Given the description of an element on the screen output the (x, y) to click on. 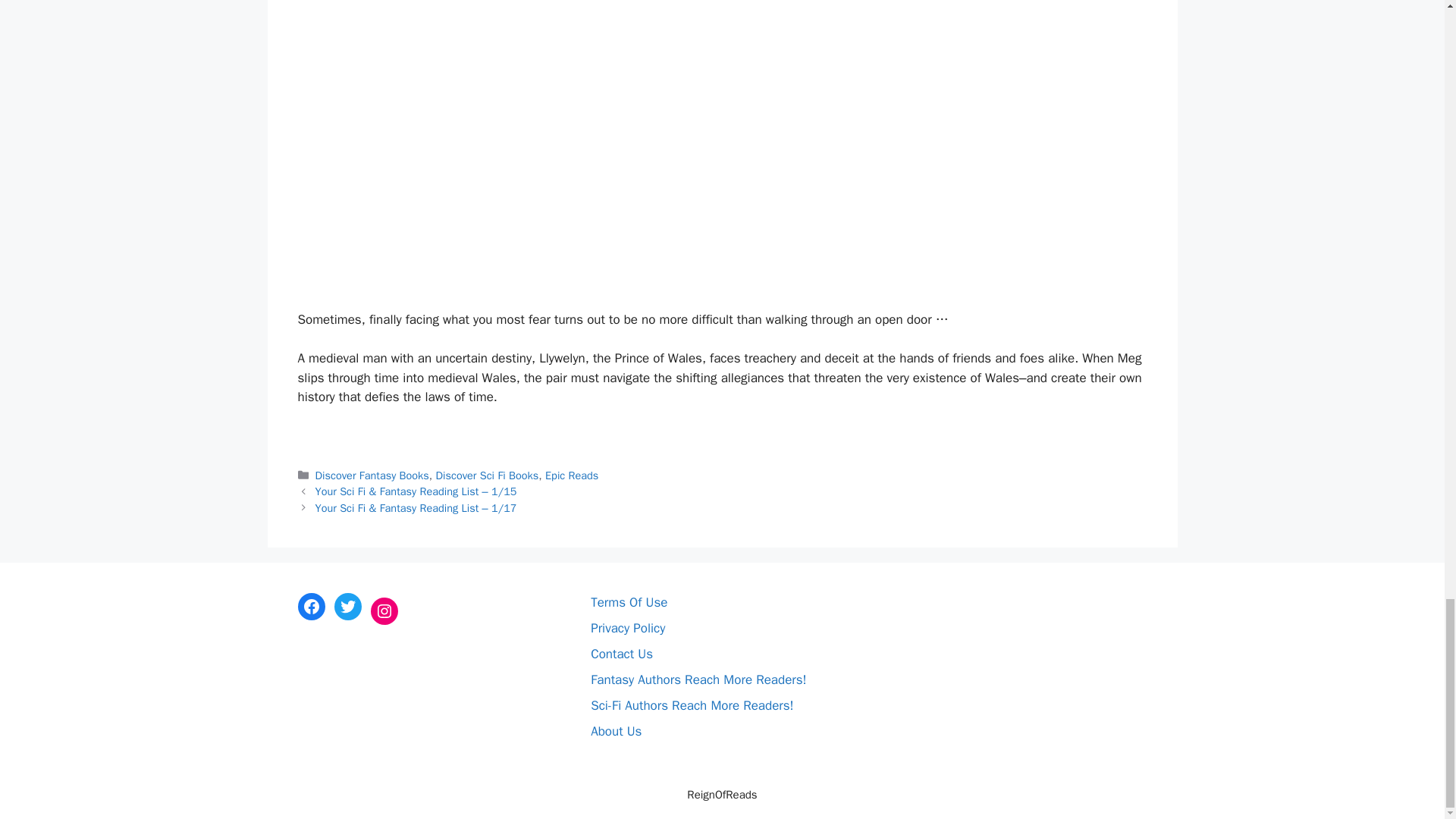
Terms Of Use (628, 602)
Contact Us (621, 653)
Discover Sci Fi Books (486, 475)
Privacy Policy (628, 627)
Epic Reads (571, 475)
Discover Fantasy Books (372, 475)
Fantasy Authors Reach More Readers! (698, 679)
About Us (616, 731)
Sci-Fi Authors Reach More Readers! (692, 705)
